Given the description of an element on the screen output the (x, y) to click on. 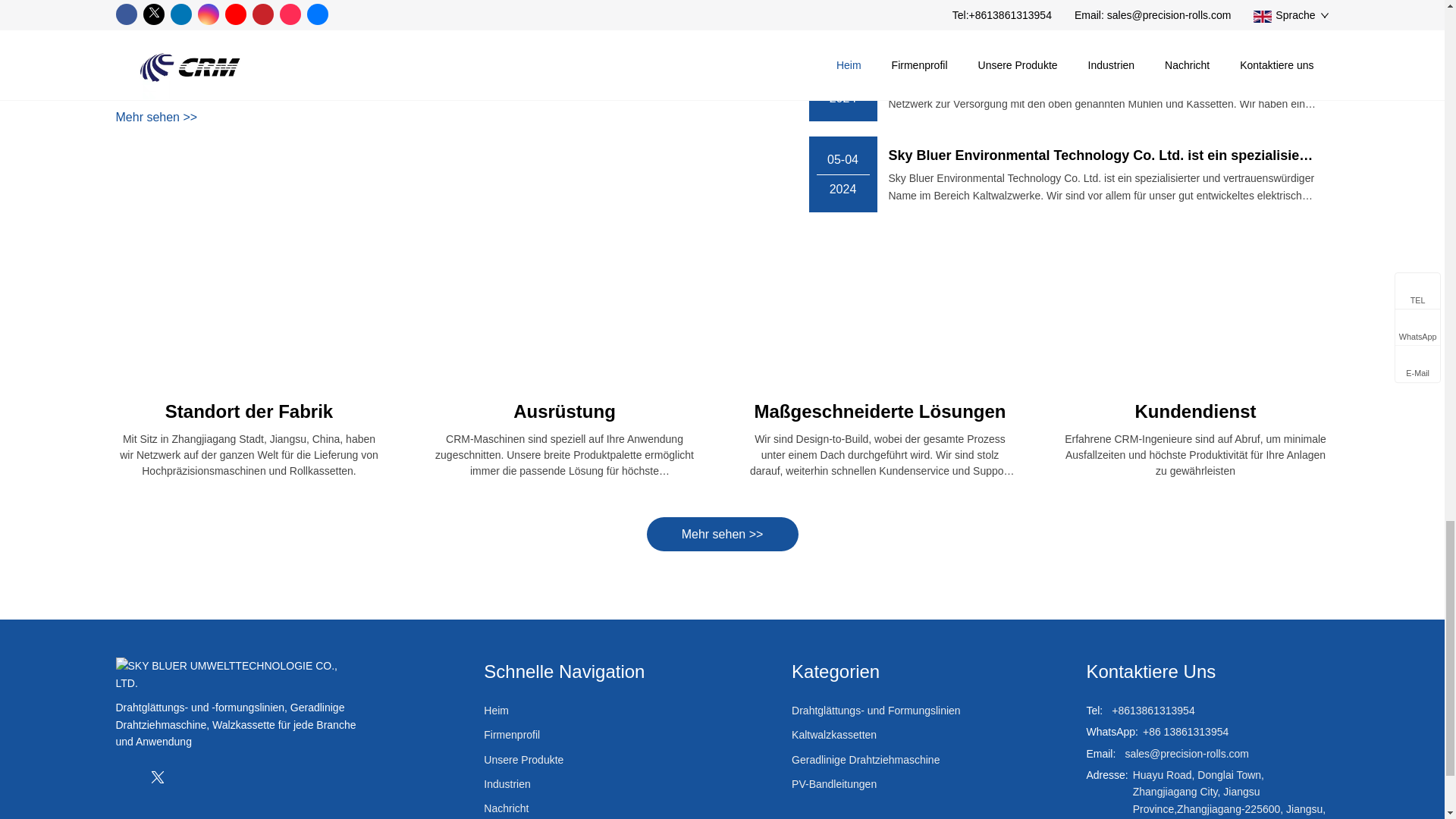
youtube (247, 775)
facebook (126, 775)
linkedin (187, 775)
twitter (156, 775)
instagram (217, 775)
